Given the description of an element on the screen output the (x, y) to click on. 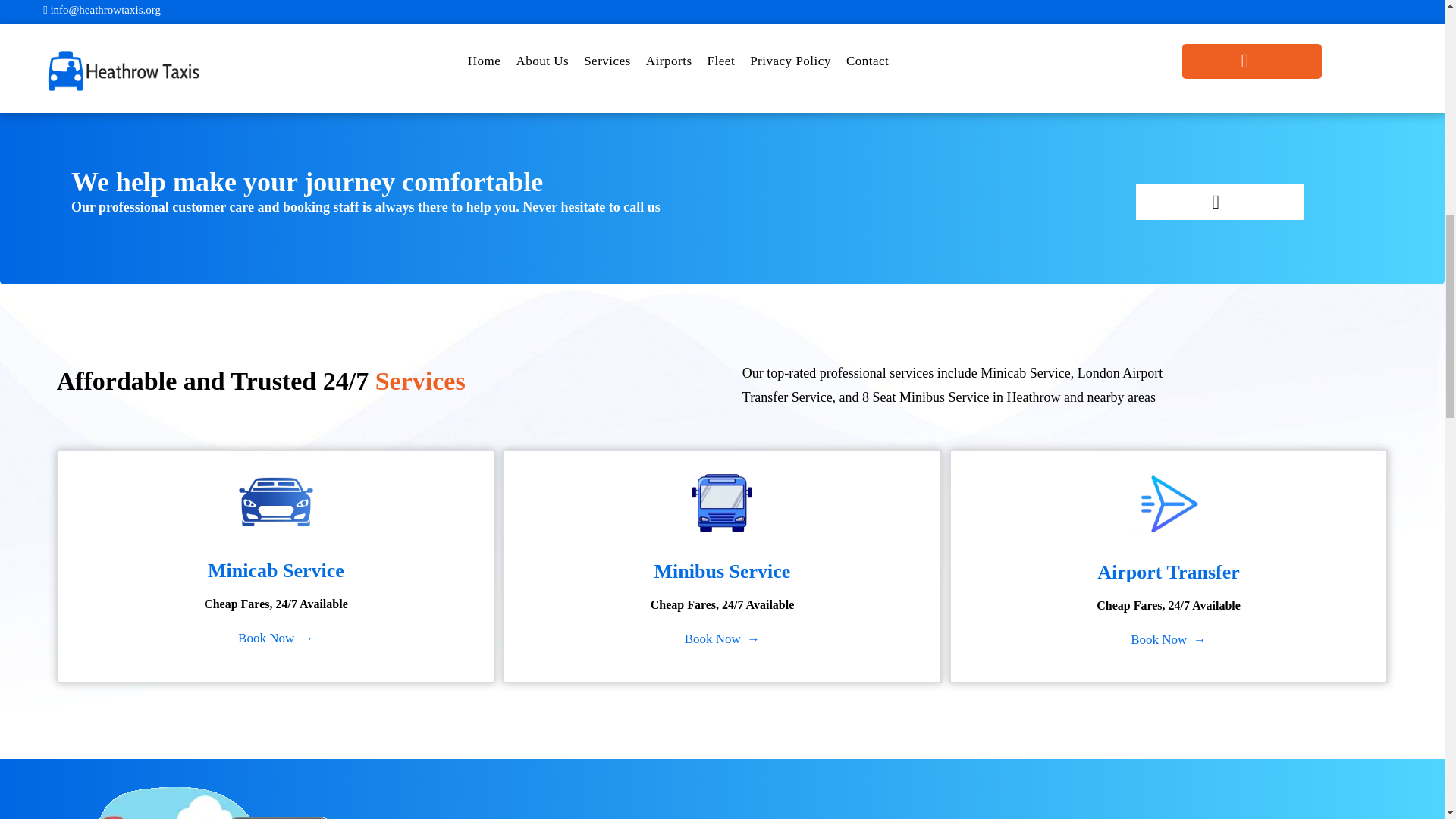
Call us on  to book your Heathrow Taxi (1219, 202)
Minicab Service Near Me in Heathrow (276, 547)
Minicab Service in Heathrow (275, 502)
